Given the description of an element on the screen output the (x, y) to click on. 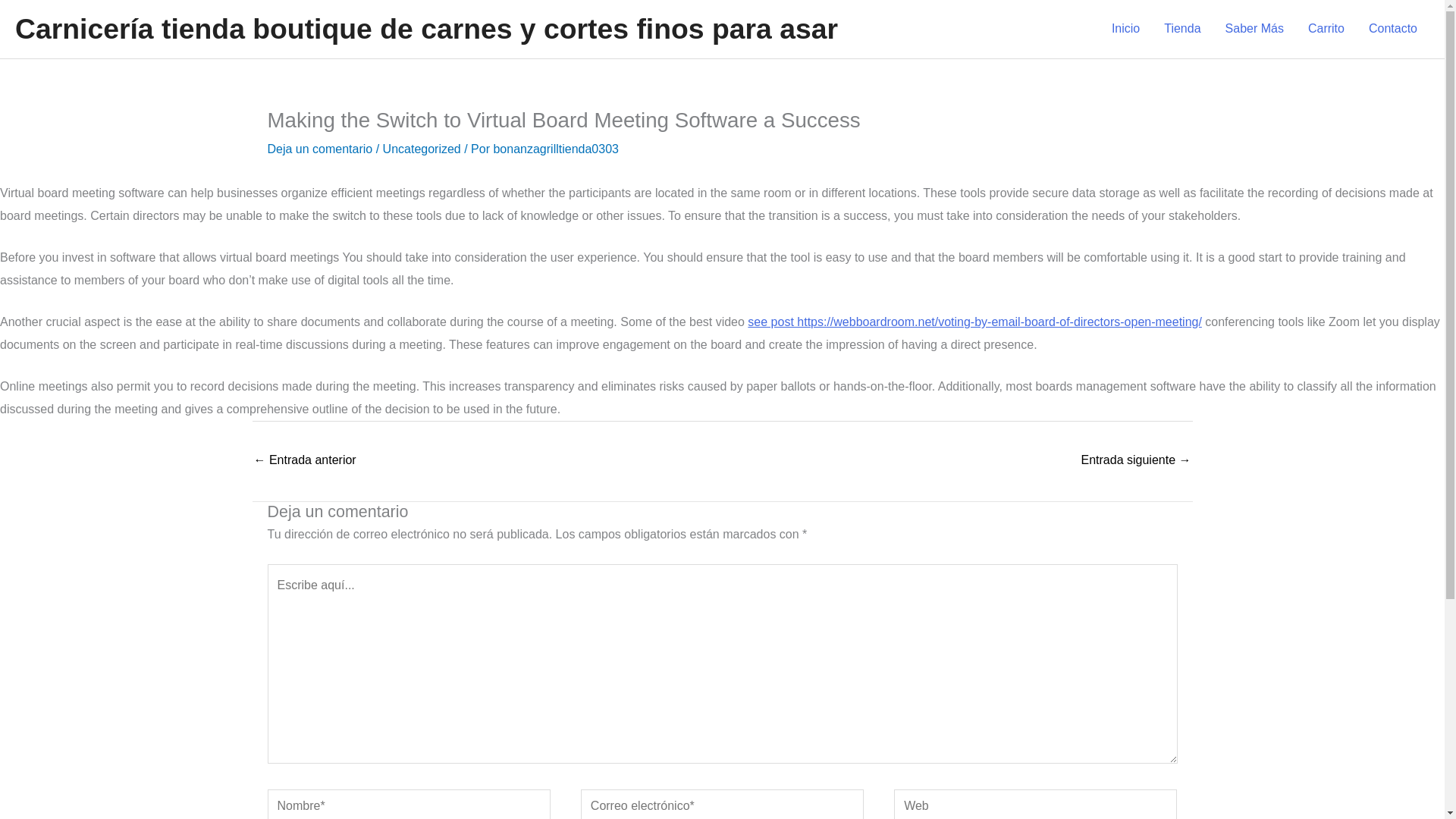
PayID obligations with mobile devices (304, 461)
Inicio (1125, 28)
Carrito (1325, 28)
Uncategorized (421, 148)
bonanzagrilltienda0303 (555, 148)
Contacto (1392, 28)
Ver todas las entradas de bonanzagrilltienda0303 (555, 148)
The Pros and Cons of Virtual Data Rooms (1136, 461)
Deja un comentario (319, 148)
Tienda (1181, 28)
